Given the description of an element on the screen output the (x, y) to click on. 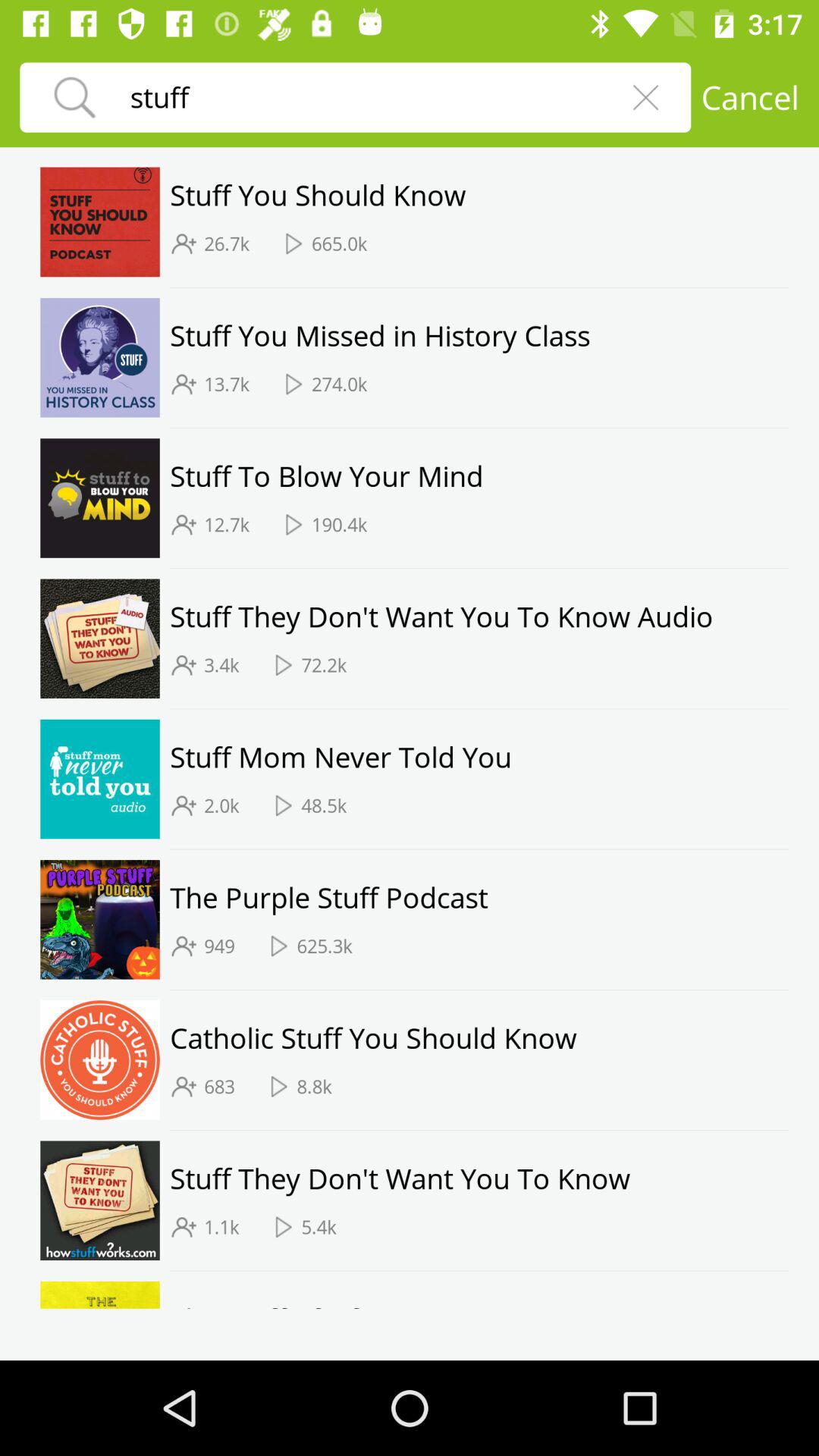
launch the icon below the stuff they don icon (221, 1226)
